Given the description of an element on the screen output the (x, y) to click on. 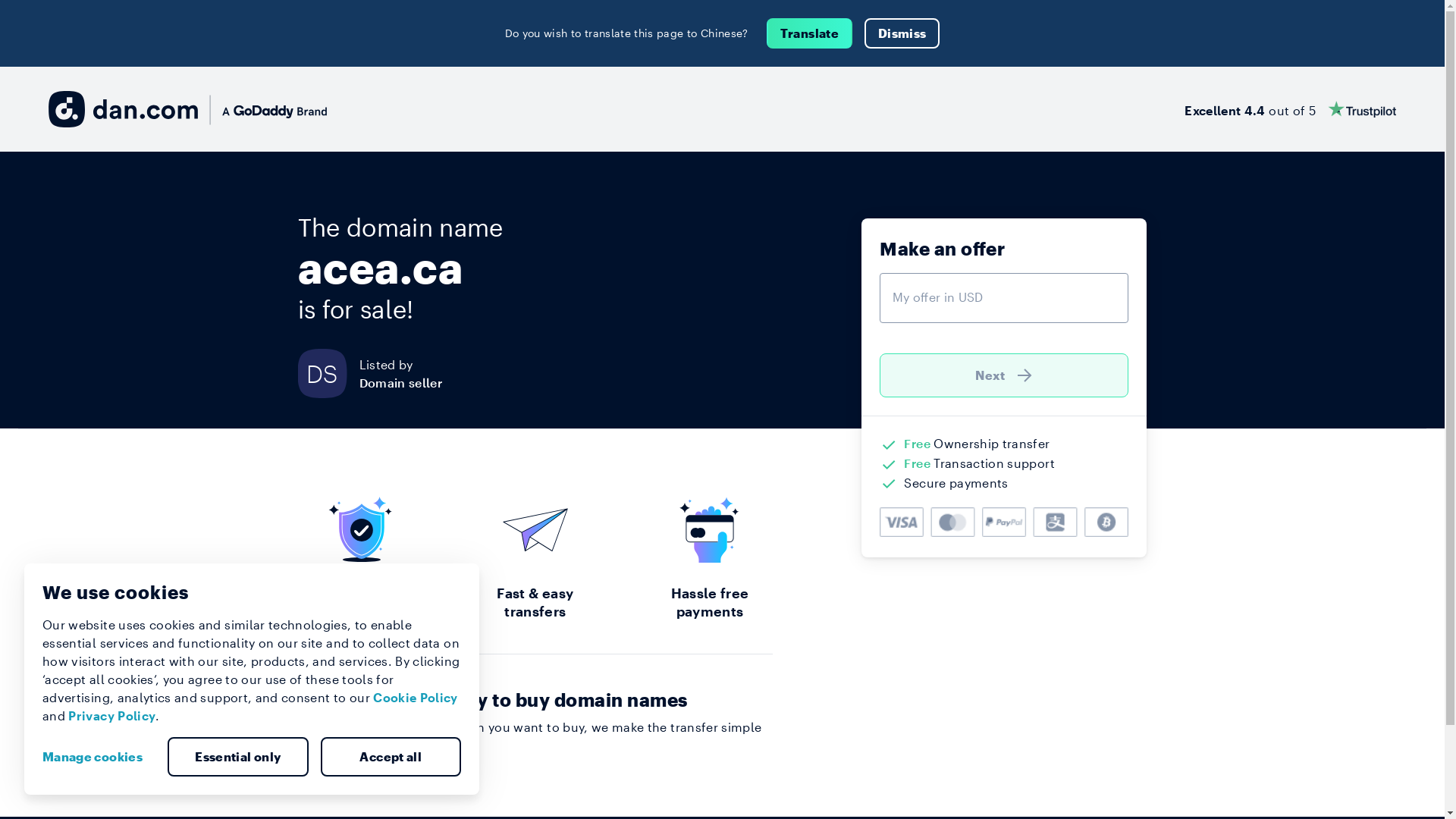
Excellent 4.4 out of 5 Element type: text (1290, 109)
Accept all Element type: text (390, 756)
DS Element type: text (327, 373)
Cookie Policy Element type: text (415, 697)
Privacy Policy Element type: text (111, 715)
Dismiss Element type: text (901, 33)
Translate Element type: text (809, 33)
Manage cookies Element type: text (98, 756)
Essential only Element type: text (237, 756)
Next
) Element type: text (1003, 375)
